Given the description of an element on the screen output the (x, y) to click on. 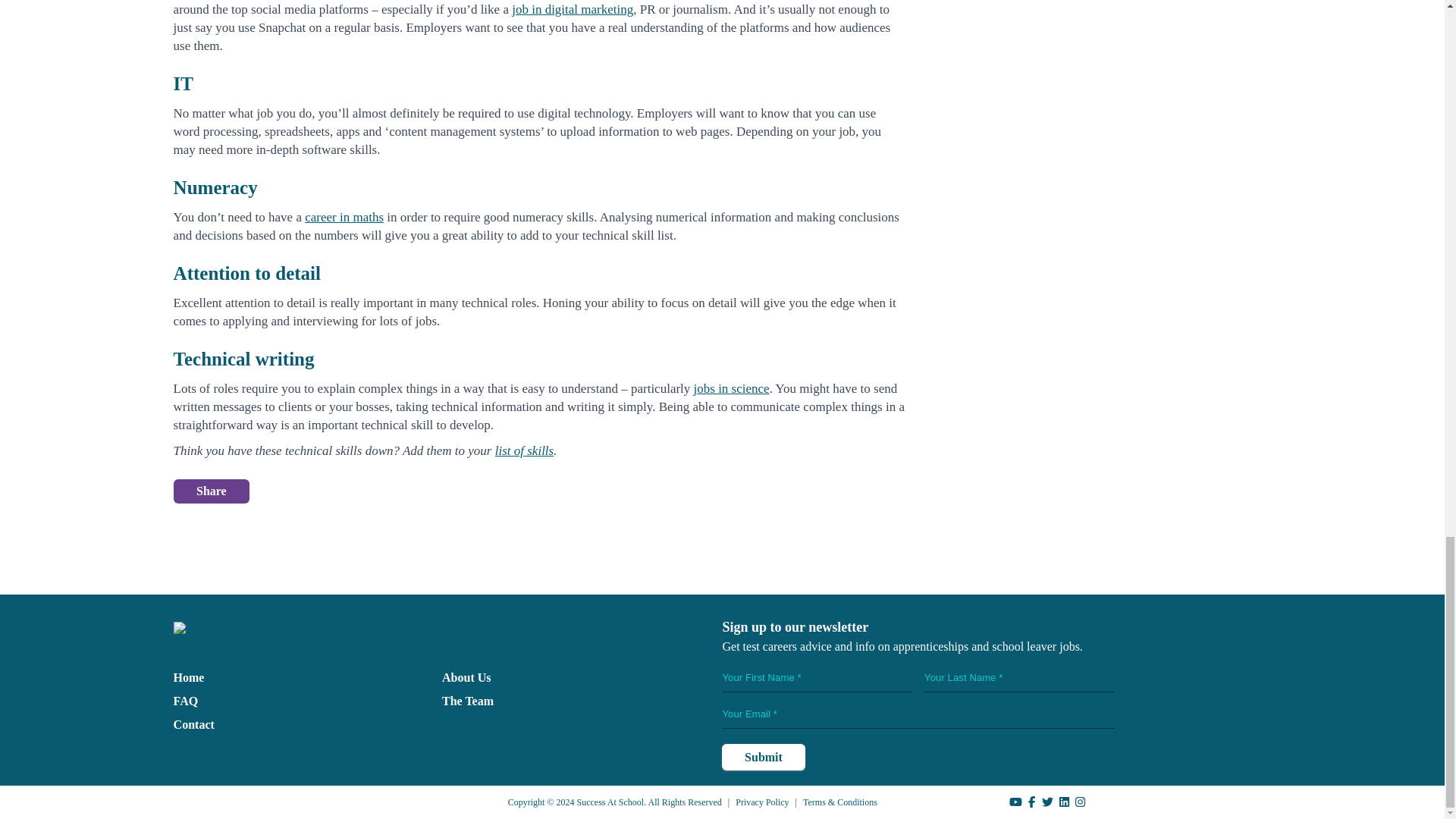
jobs in science (732, 388)
view careers in maths (344, 216)
view jobs in science (732, 388)
view jobs in digital marketing (572, 9)
FAQ (185, 700)
The Team (467, 700)
career in maths (344, 216)
view list of skills (524, 450)
job in digital marketing (572, 9)
list of skills (524, 450)
About Us (466, 676)
Share (210, 491)
Home (189, 676)
